Given the description of an element on the screen output the (x, y) to click on. 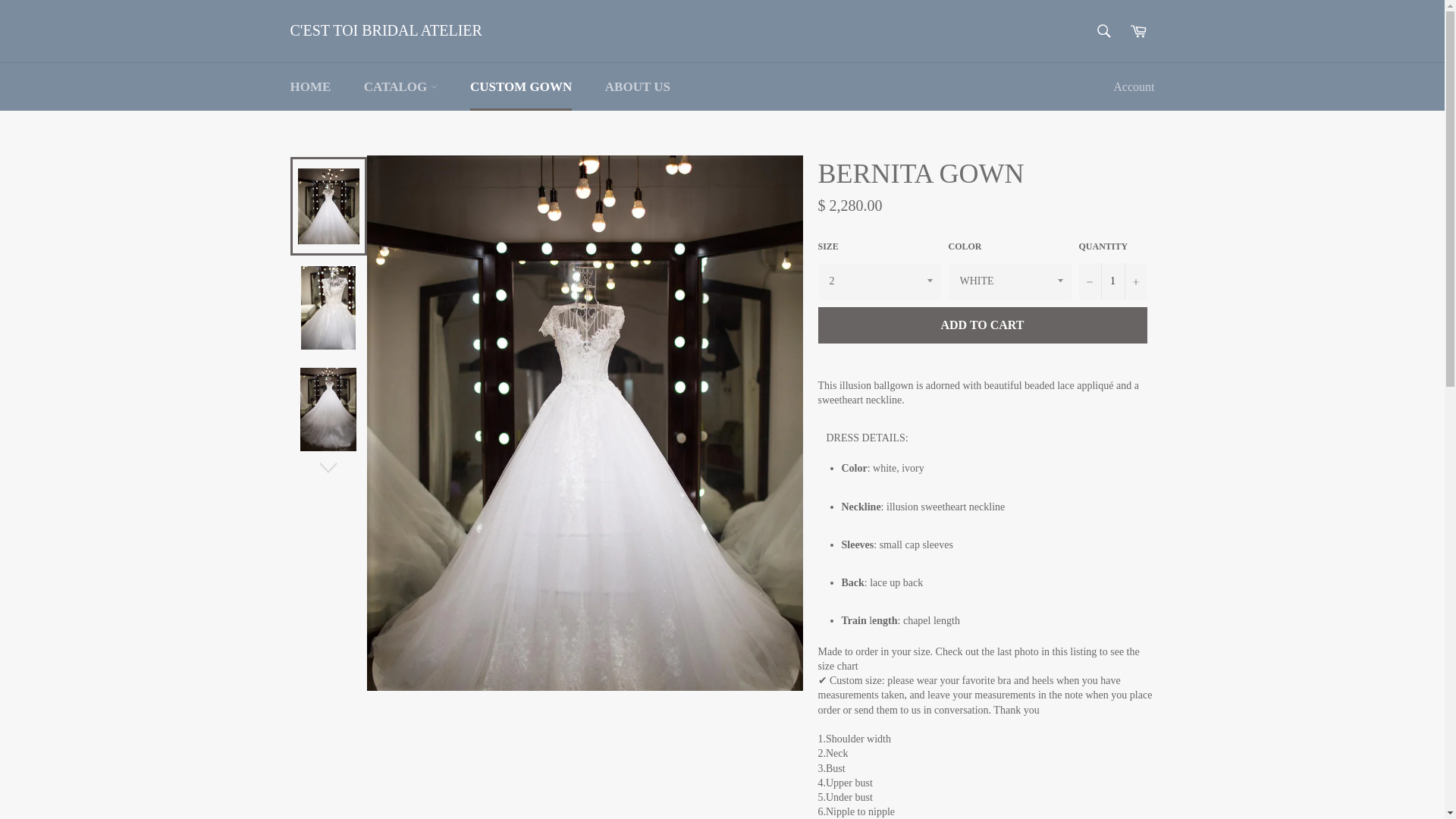
CUSTOM GOWN (520, 86)
Cart (1138, 30)
ABOUT US (637, 86)
Account (1133, 86)
CATALOG (400, 86)
1 (1112, 280)
HOME (310, 86)
Search (1103, 30)
C'EST TOI BRIDAL ATELIER (385, 30)
